Given the description of an element on the screen output the (x, y) to click on. 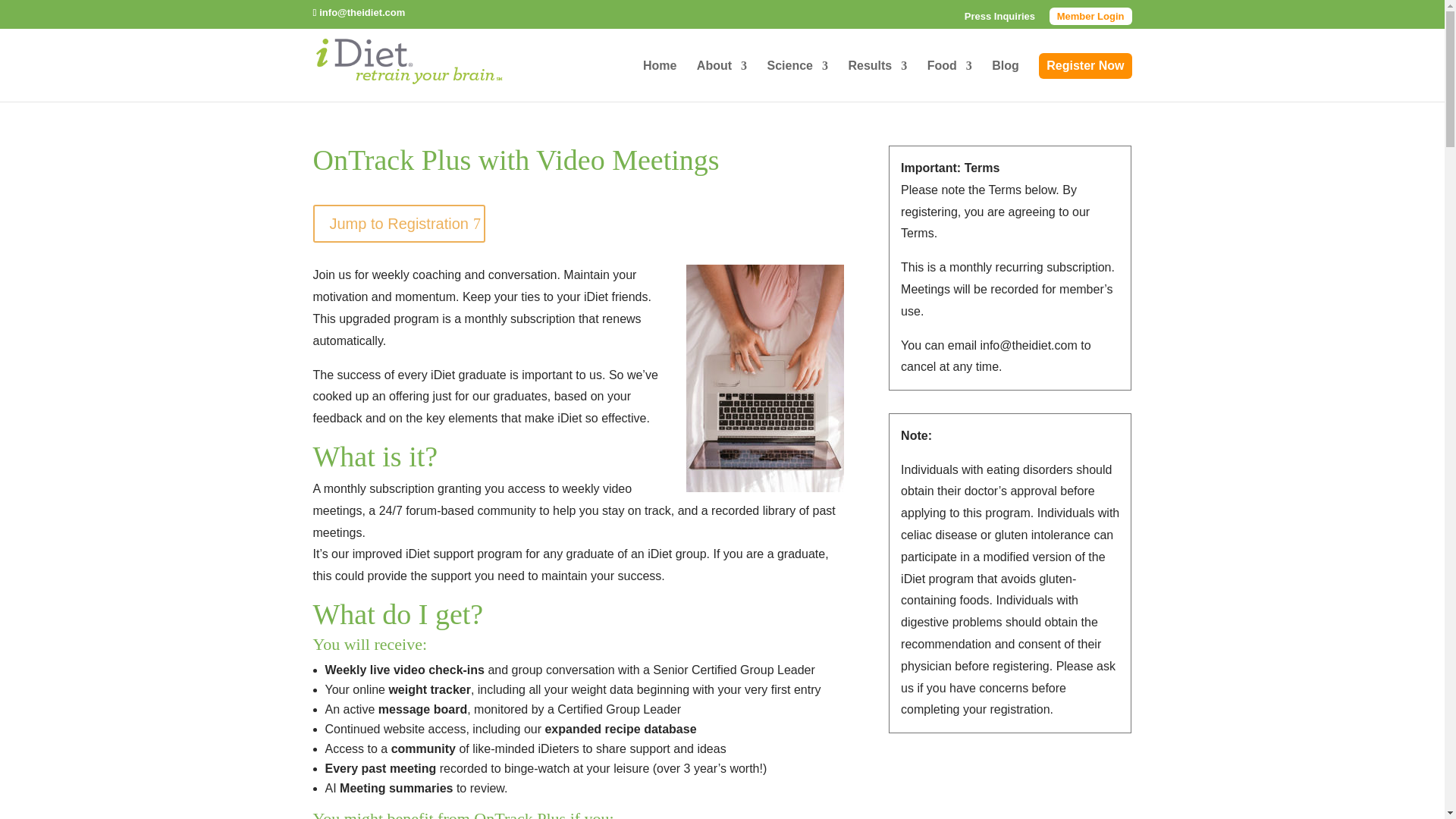
Member Login (1090, 16)
Results (877, 80)
About (721, 80)
Press Inquiries (999, 19)
Food (949, 80)
Science (797, 80)
